Given the description of an element on the screen output the (x, y) to click on. 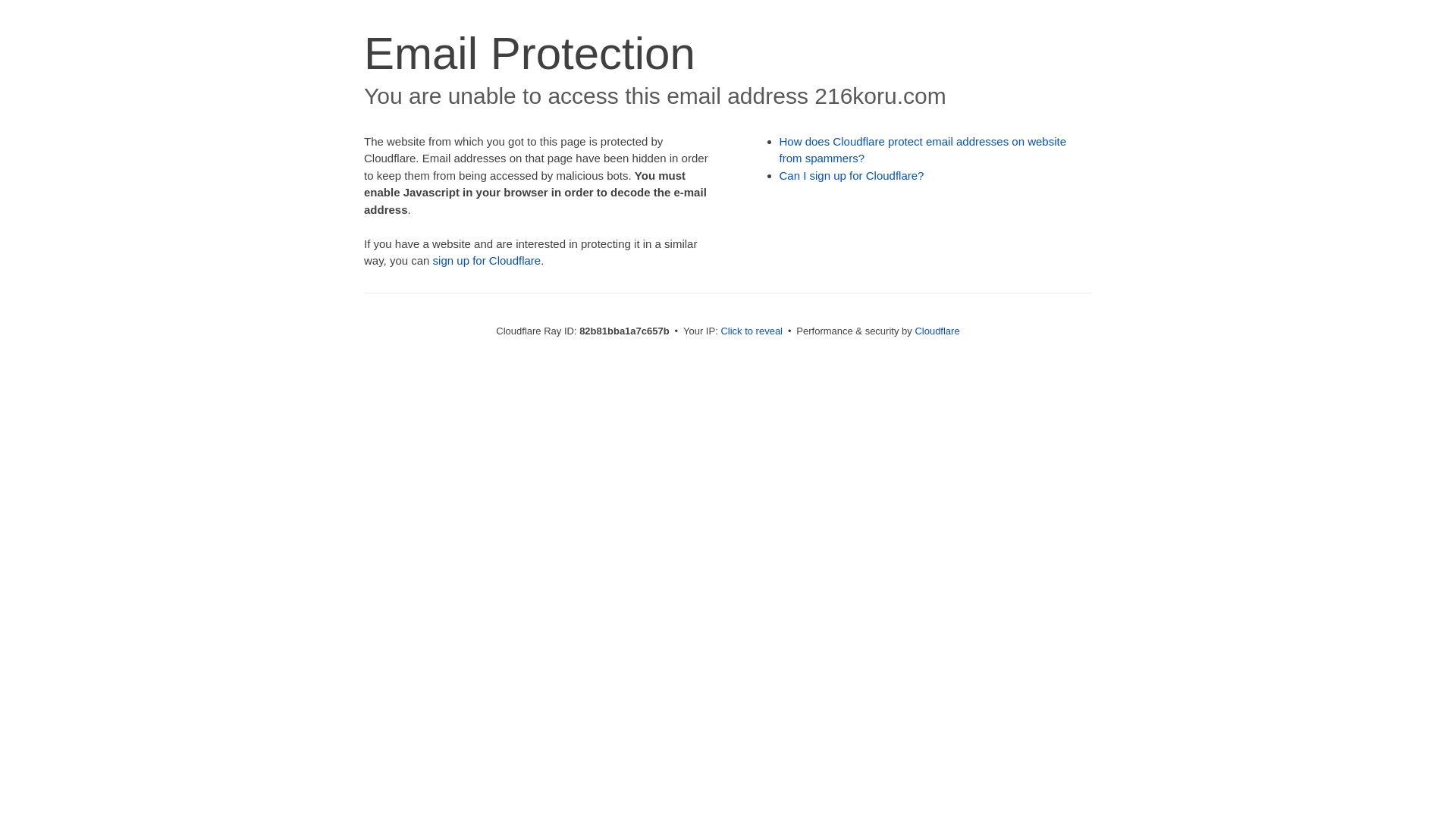
Click to reveal Element type: text (751, 330)
Can I sign up for Cloudflare? Element type: text (851, 175)
sign up for Cloudflare Element type: text (487, 260)
Cloudflare Element type: text (936, 330)
